Given the description of an element on the screen output the (x, y) to click on. 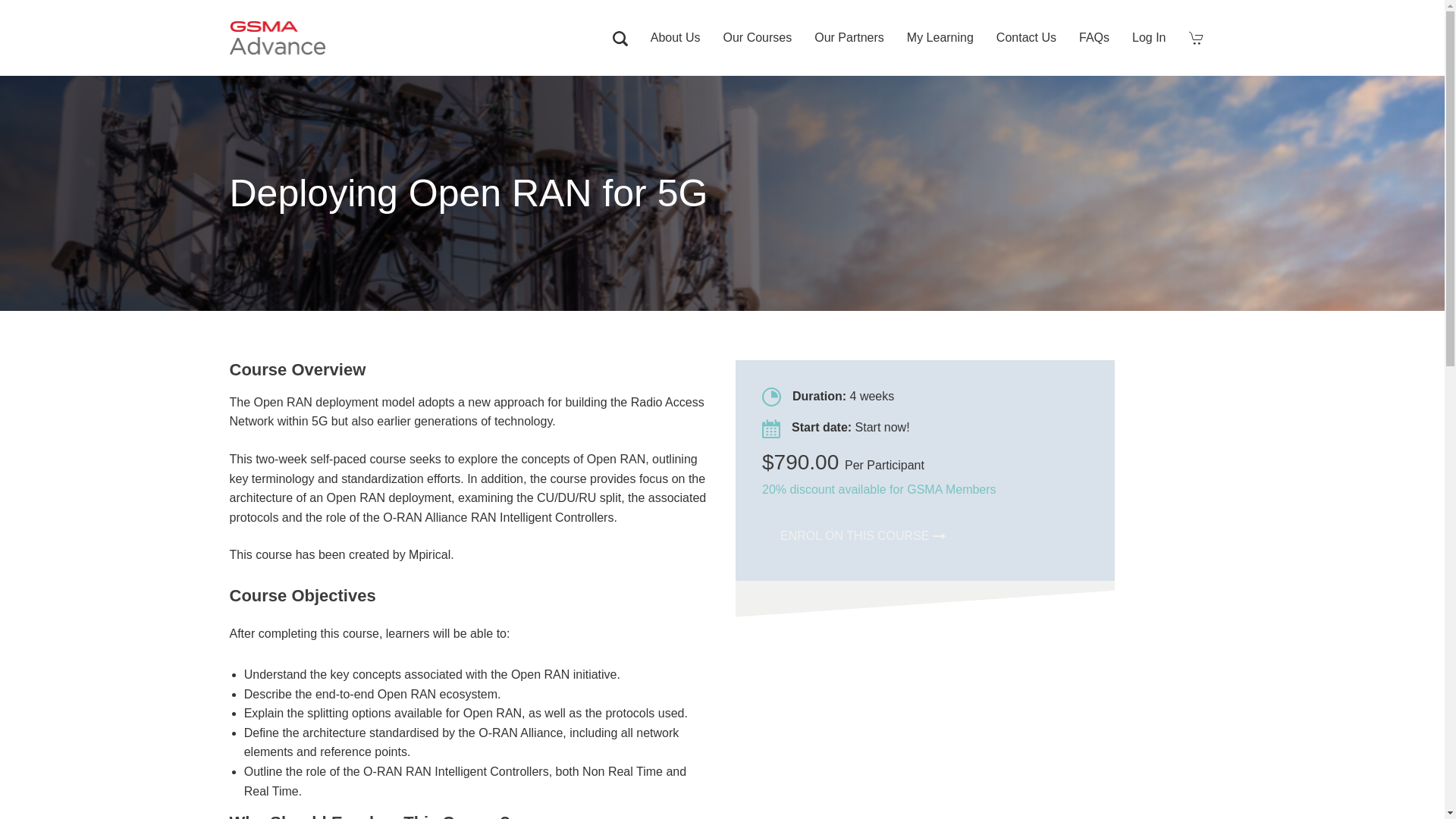
gsmaadvance-logo-lgt (276, 37)
Our Courses (757, 38)
Deploying Open RAN for 5G (475, 193)
ENROL ON THIS COURSE (862, 535)
My Learning (940, 38)
Our Partners (849, 38)
About Us (675, 38)
Contact Us (1026, 38)
